Given the description of an element on the screen output the (x, y) to click on. 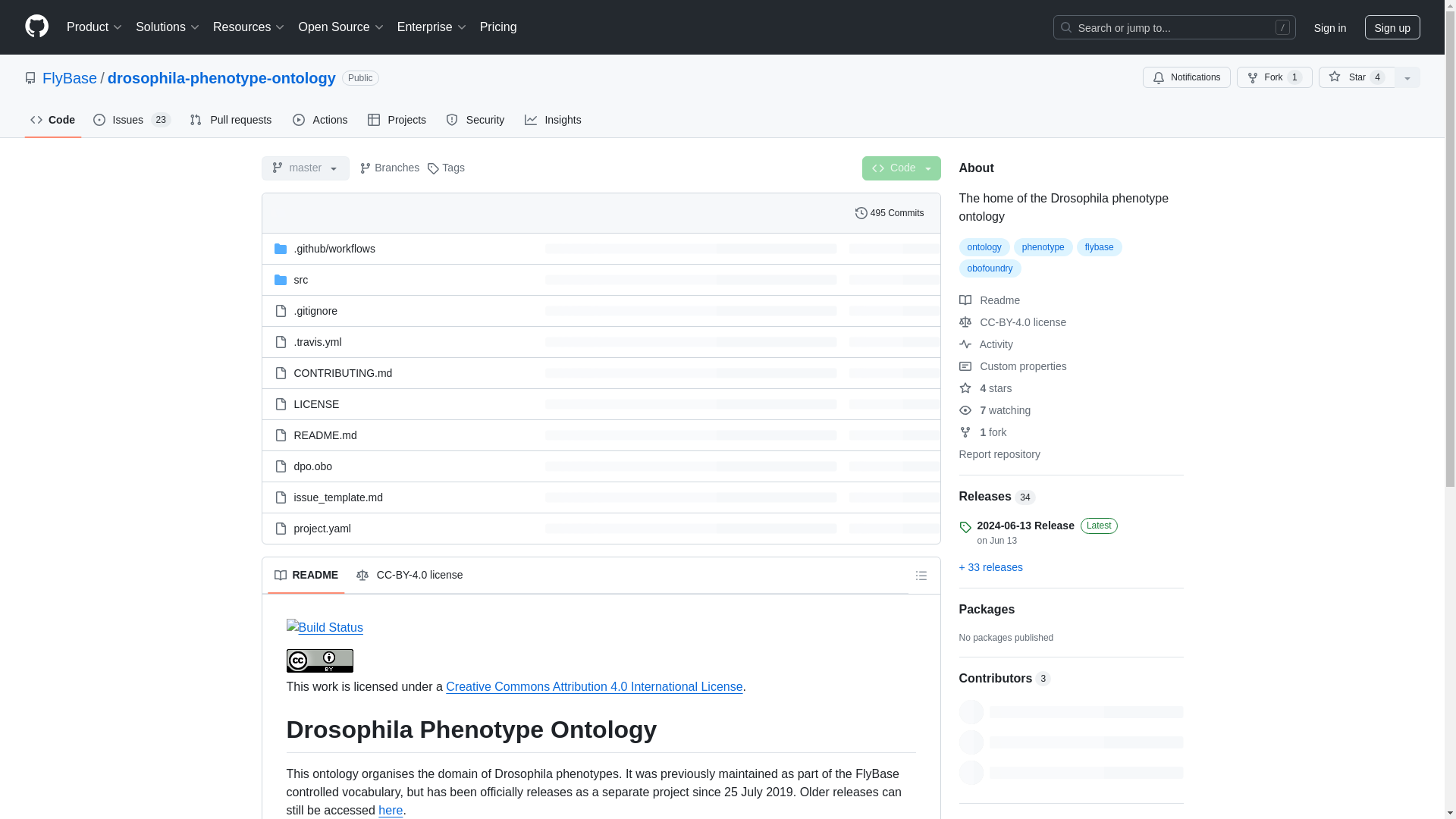
Open Source (341, 27)
Solutions (167, 27)
4 (1378, 77)
src (301, 278)
.gitignore (315, 310)
Resources (249, 27)
23 (161, 119)
This path skips through empty directories (334, 248)
.travis.yml (318, 340)
1 (1295, 77)
CONTRIBUTING.md (343, 372)
Product (95, 27)
